Given the description of an element on the screen output the (x, y) to click on. 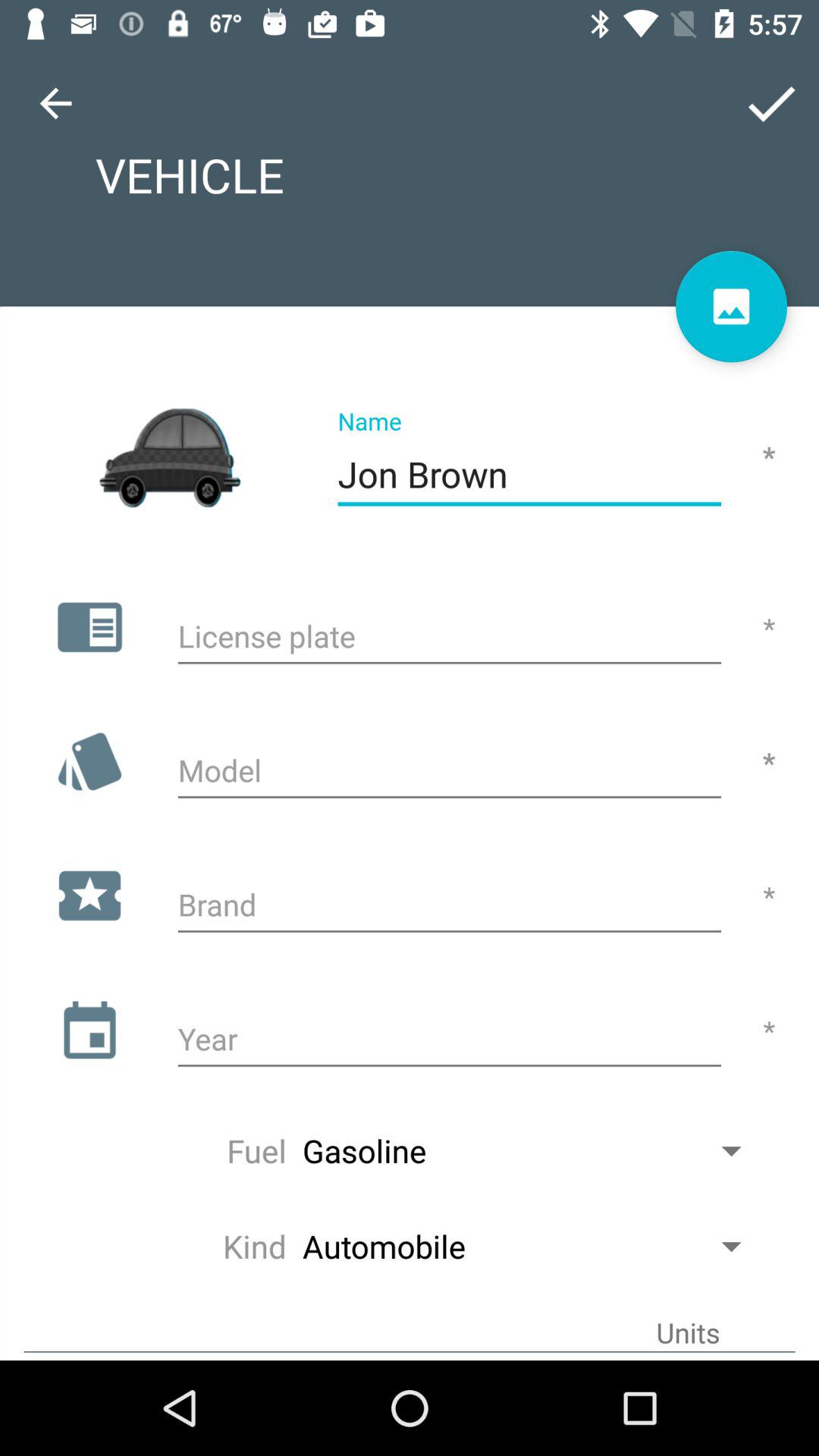
enter brand (449, 907)
